Given the description of an element on the screen output the (x, y) to click on. 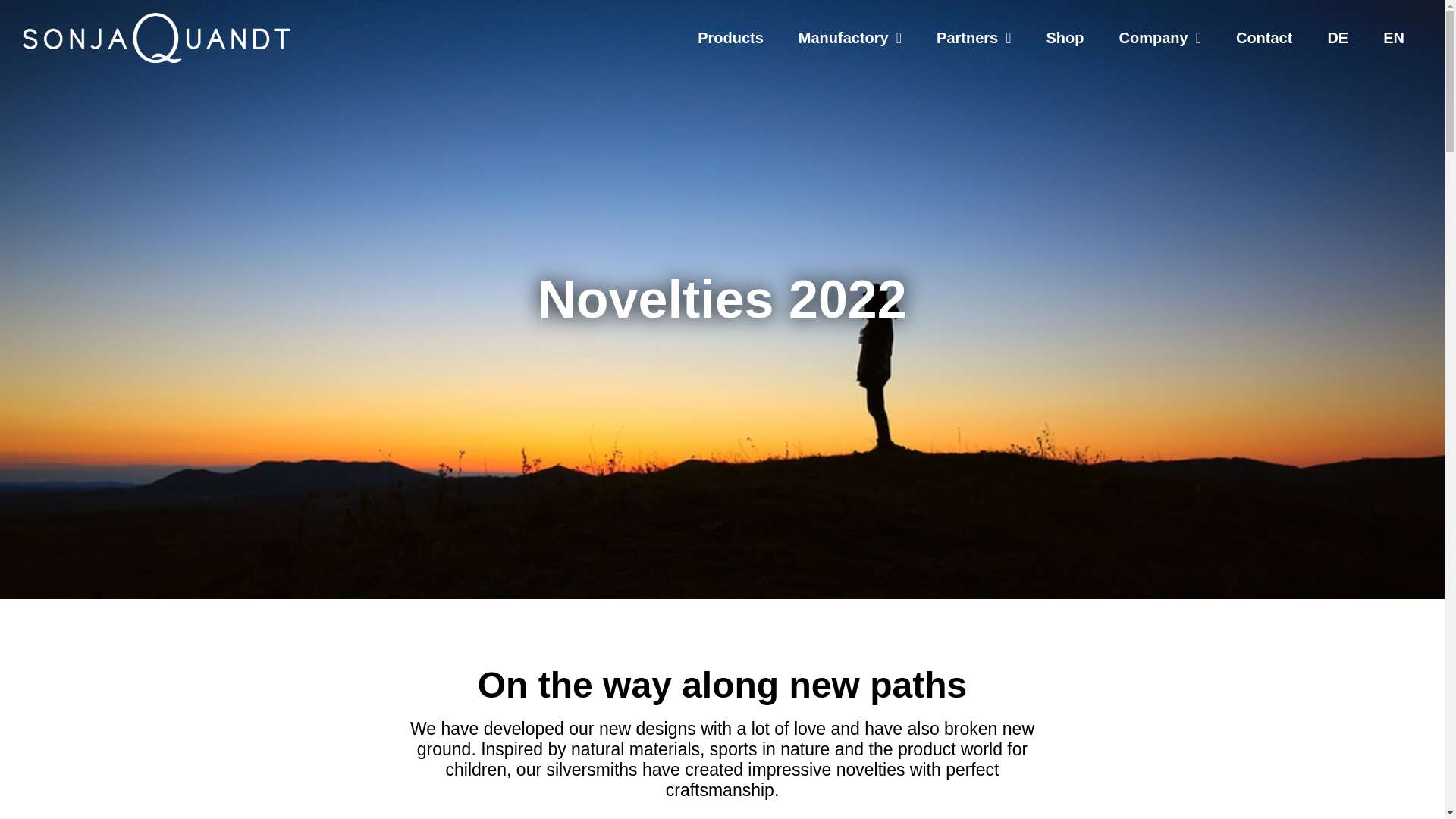
DE (1336, 37)
Partners (972, 37)
Company (1160, 37)
EN (1393, 37)
Contact (1263, 37)
Shop (1065, 37)
Manufactory (849, 37)
Products (729, 37)
